Given the description of an element on the screen output the (x, y) to click on. 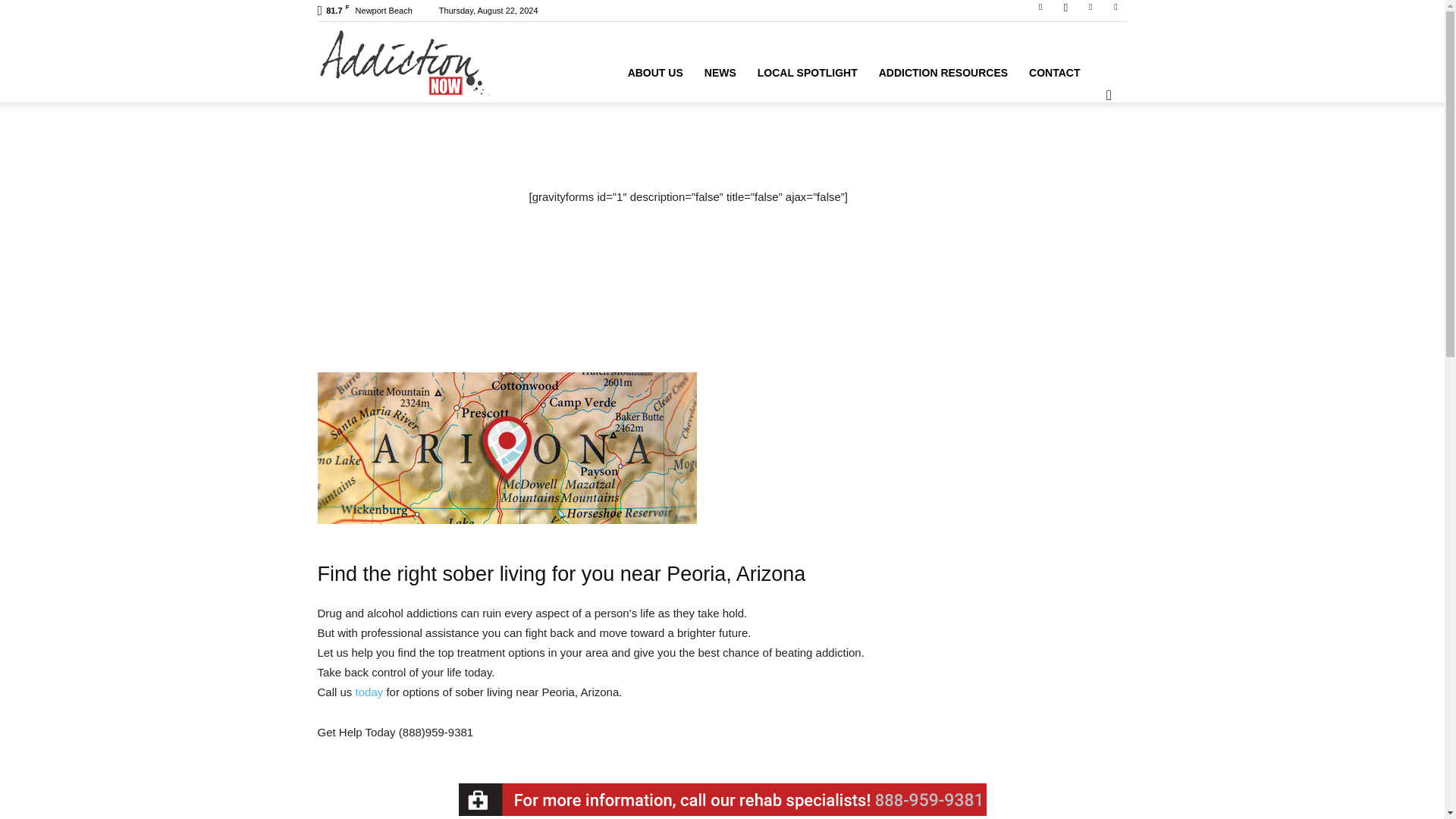
NEWS (720, 72)
ABOUT US (655, 72)
LOCAL SPOTLIGHT (806, 72)
Instagram (1065, 11)
Peoria, Arizona Sober Living (506, 448)
Facebook (1040, 11)
ADDICTION RESOURCES (942, 72)
Pinterest (1090, 11)
Search (1085, 144)
Twitter (1114, 11)
